Given the description of an element on the screen output the (x, y) to click on. 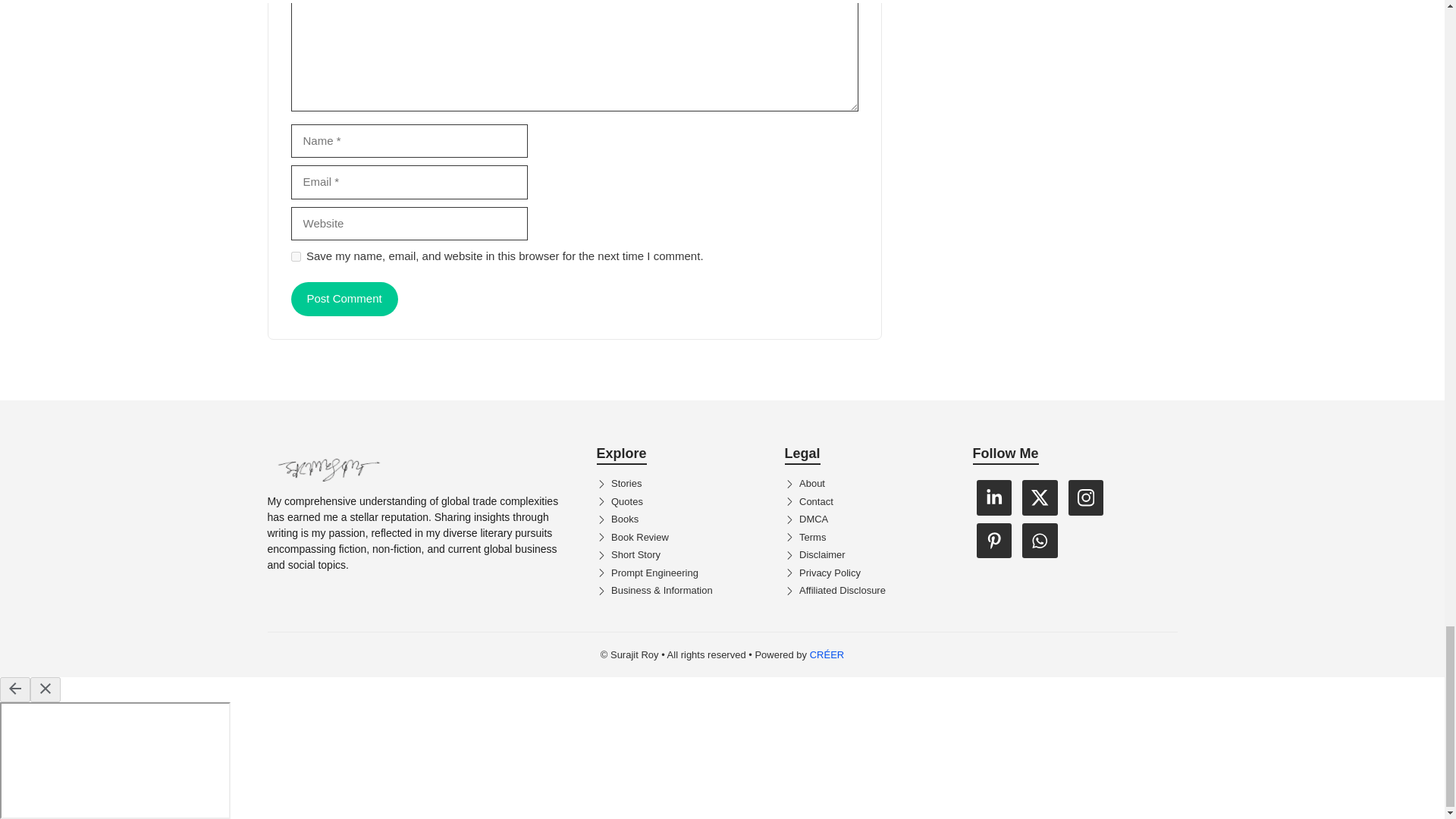
yes (296, 256)
Post Comment (344, 298)
Surajit-Roy-Logo (327, 465)
Post Comment (344, 298)
